Given the description of an element on the screen output the (x, y) to click on. 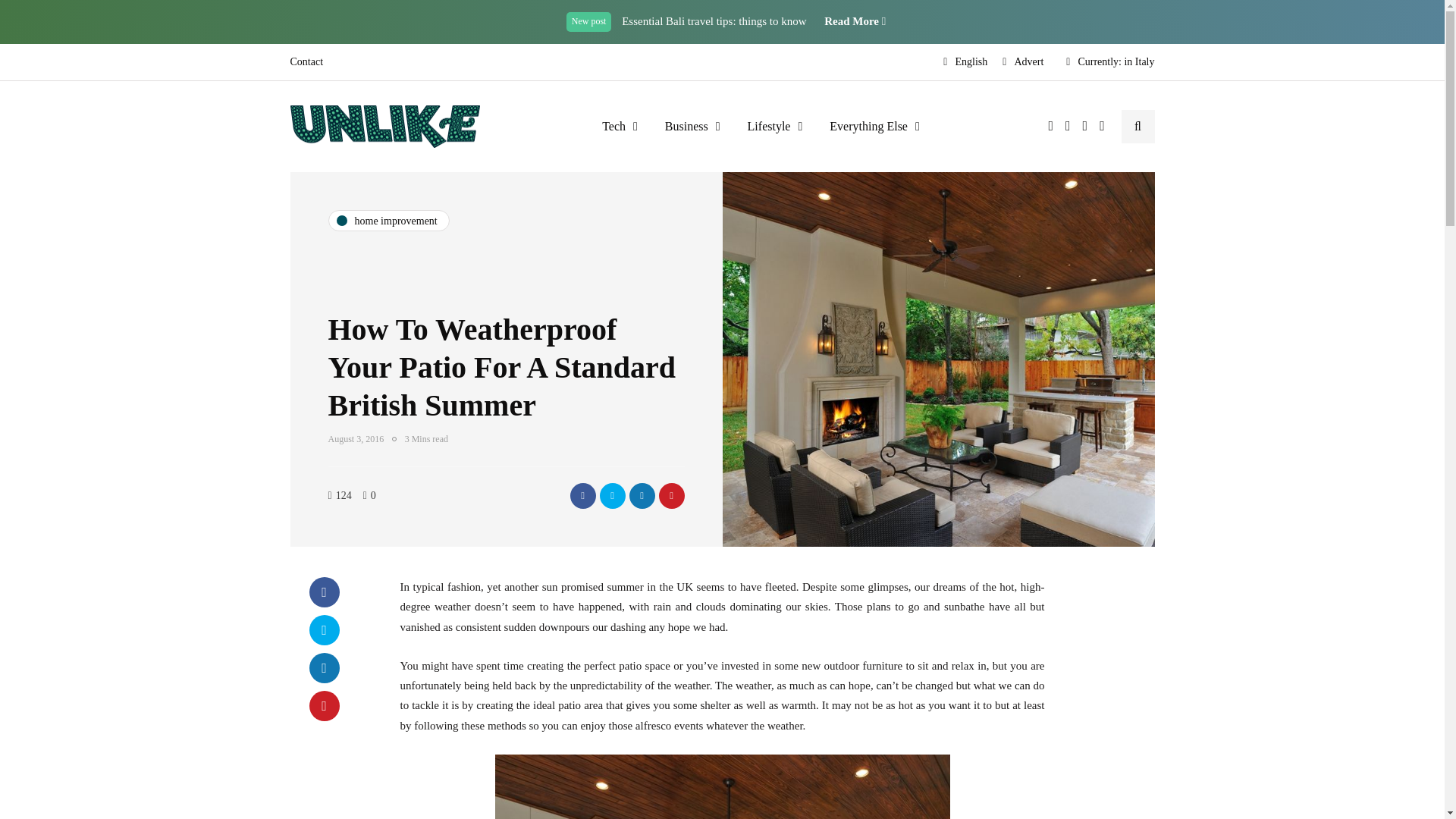
Share with LinkedIn (641, 495)
Tweet this (611, 495)
Contact (309, 62)
Read More (854, 21)
Pin this (671, 495)
Tweet this (323, 630)
Share with Facebook (582, 495)
Business (691, 126)
English (965, 62)
Advert (1022, 62)
Tech (619, 126)
Pin this (323, 706)
Share with Facebook (323, 592)
Everything Else (874, 126)
home improvement (387, 219)
